Given the description of an element on the screen output the (x, y) to click on. 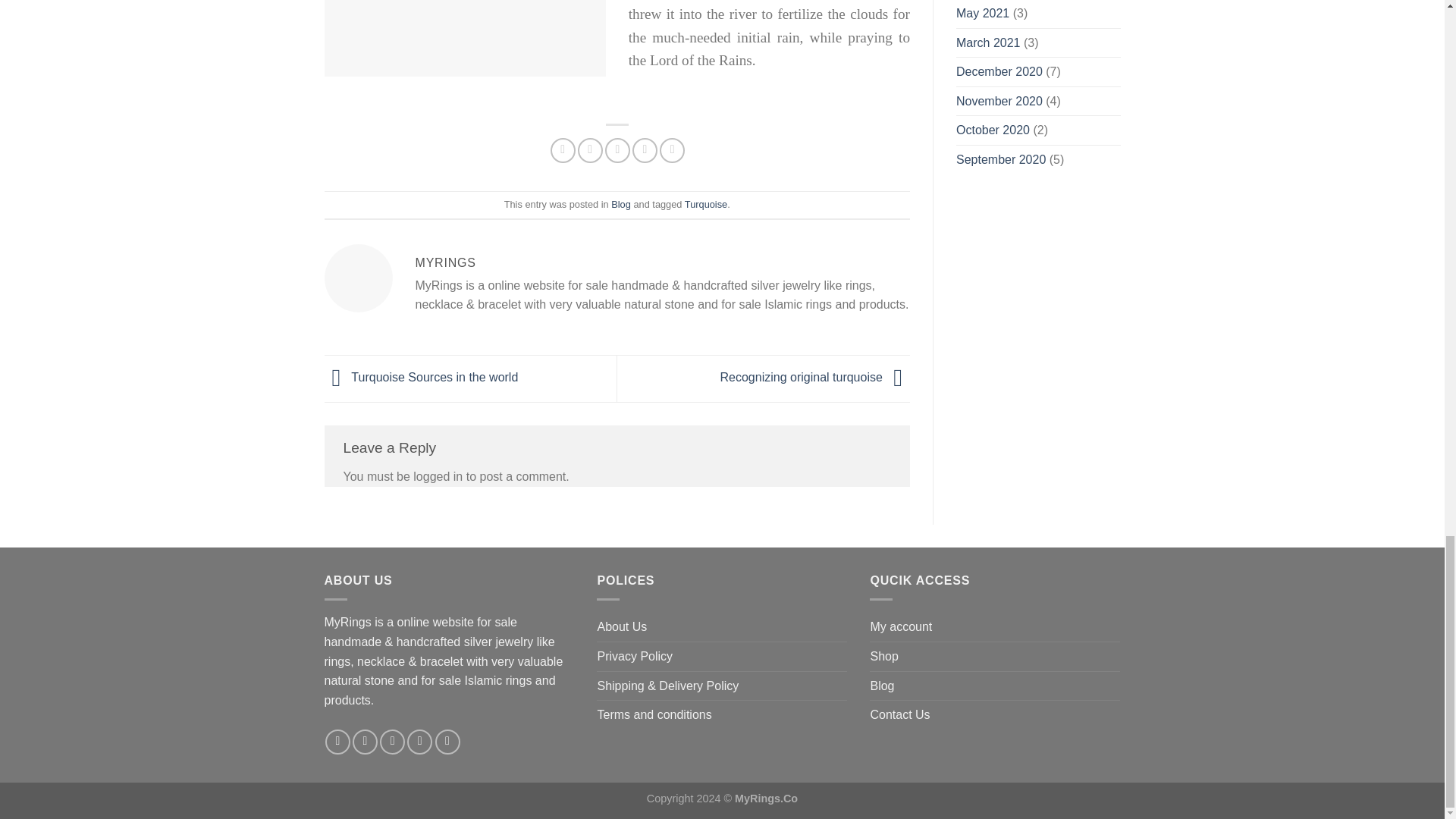
Share on Twitter (590, 150)
Share on LinkedIn (671, 150)
Pin on Pinterest (644, 150)
Share on Facebook (562, 150)
Email to a Friend (617, 150)
